Given the description of an element on the screen output the (x, y) to click on. 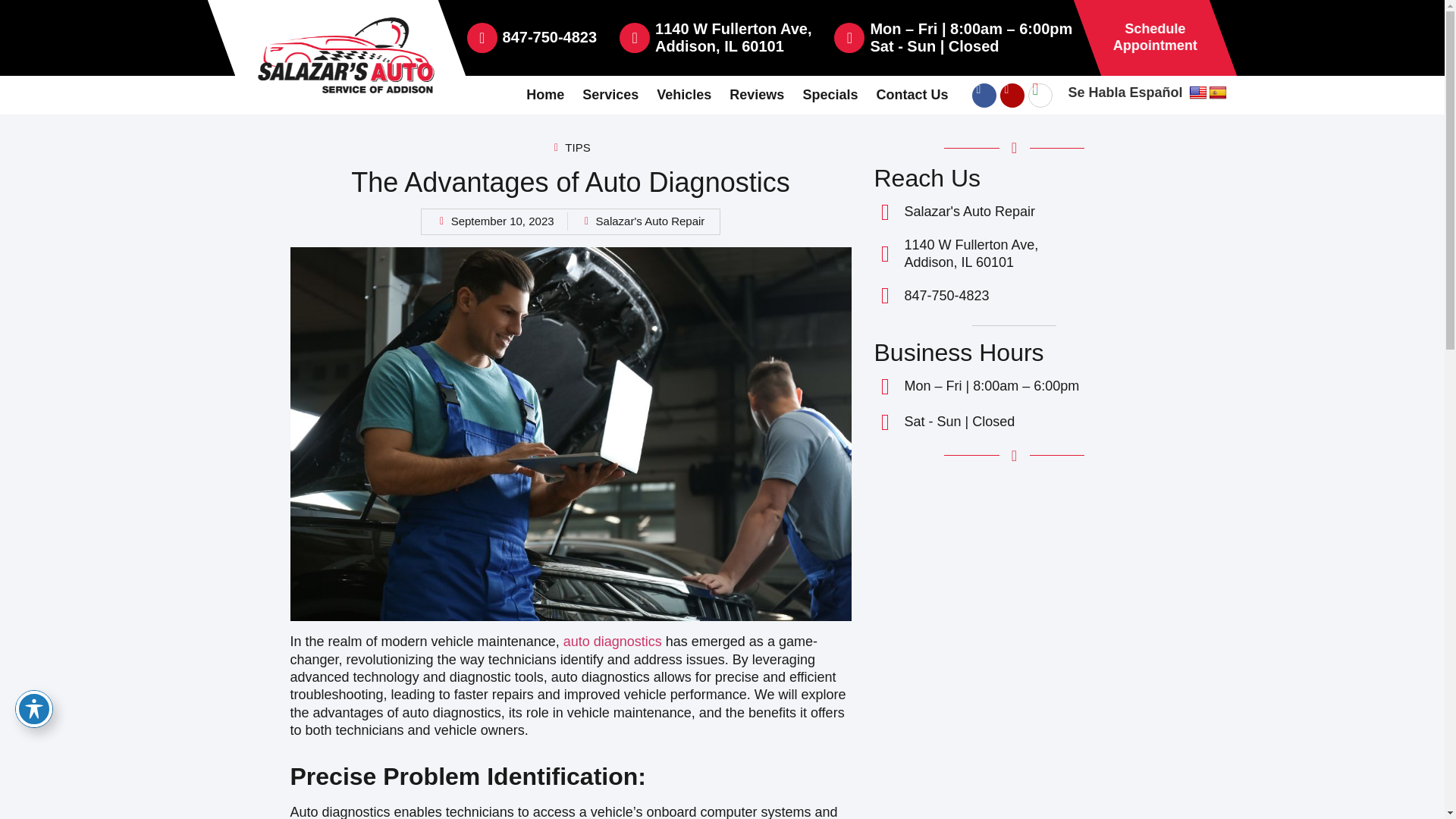
847-750-4823 (1155, 37)
Spanish (549, 36)
Home (1217, 92)
Vehicles (544, 95)
Contact Us (683, 95)
Specials (911, 95)
Services (829, 95)
English (732, 37)
Reviews (610, 95)
